Given the description of an element on the screen output the (x, y) to click on. 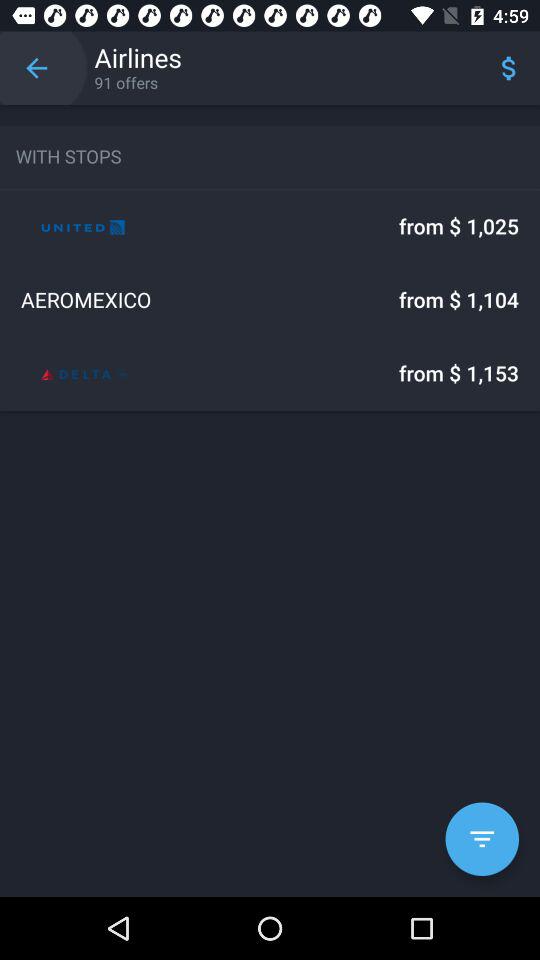
turn on icon next to airlines (36, 68)
